Given the description of an element on the screen output the (x, y) to click on. 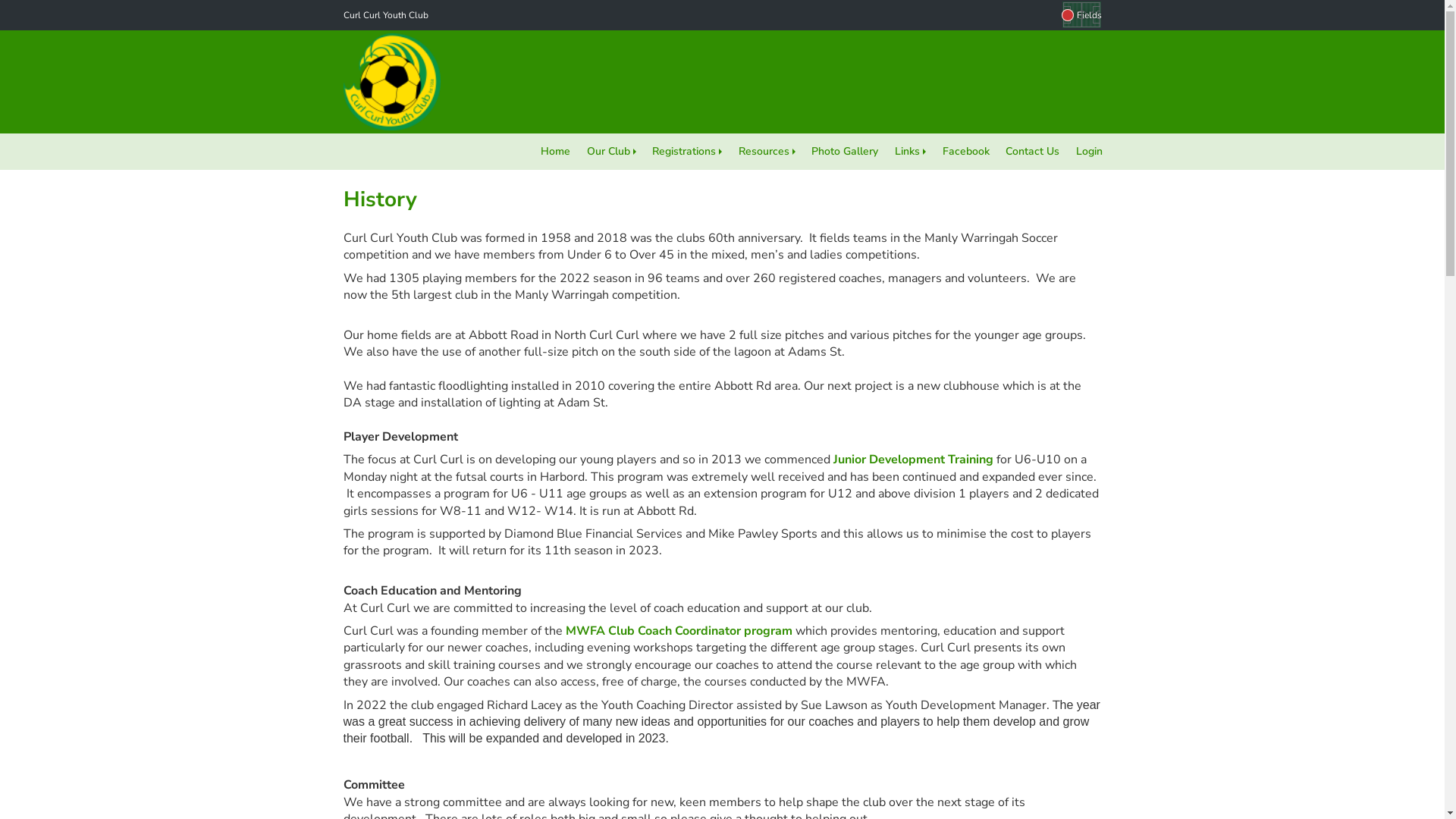
Registrations Element type: text (686, 151)
Curl Curl Youth Club Element type: text (384, 15)
Photo Gallery Element type: text (845, 151)
Home Element type: text (555, 151)
Junior Development Training Element type: text (912, 459)
Fields Element type: text (1081, 15)
MWFA Club Coach Coordinator program Element type: text (678, 630)
Our Club Element type: text (611, 151)
Contact Us Element type: text (1032, 151)
Facebook Element type: text (965, 151)
Login Element type: text (1088, 151)
Resources Element type: text (766, 151)
Links Element type: text (910, 151)
